Given the description of an element on the screen output the (x, y) to click on. 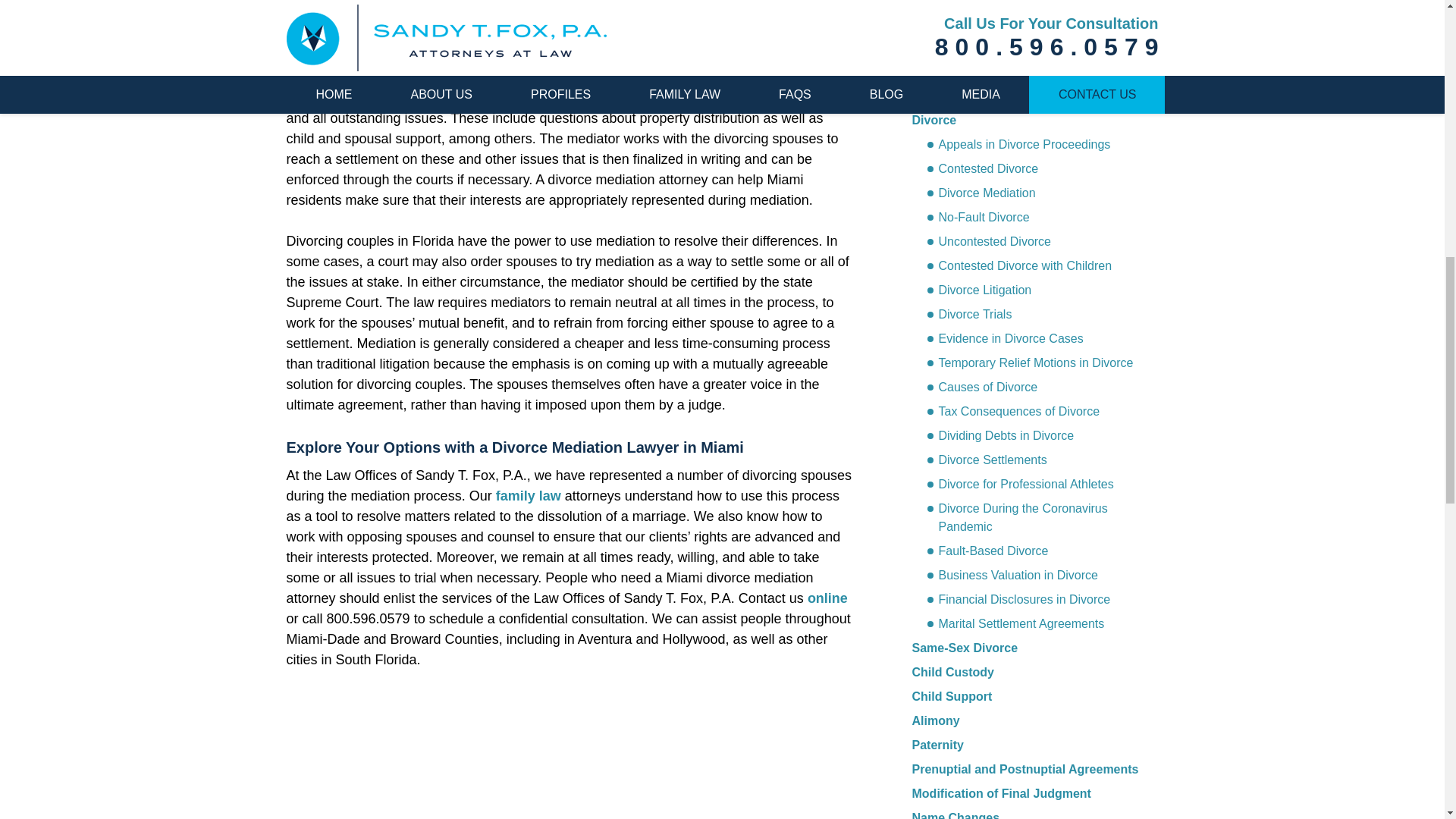
Divorce for Professional Athletes (1019, 484)
family law (528, 495)
Uncontested Divorce (988, 241)
CONTACT US NOW (1024, 9)
Temporary Relief Motions in Divorce (1029, 362)
divorce (405, 15)
No-Fault Divorce (977, 217)
Appeals in Divorce Proceedings (1017, 144)
Divorce Litigation (978, 290)
Divorce Trials (968, 314)
Tax Consequences of Divorce (1012, 411)
Evidence in Divorce Cases (1004, 339)
Practice Areas (960, 84)
Dividing Debts in Divorce (1000, 435)
Contested Divorce with Children (1019, 266)
